Given the description of an element on the screen output the (x, y) to click on. 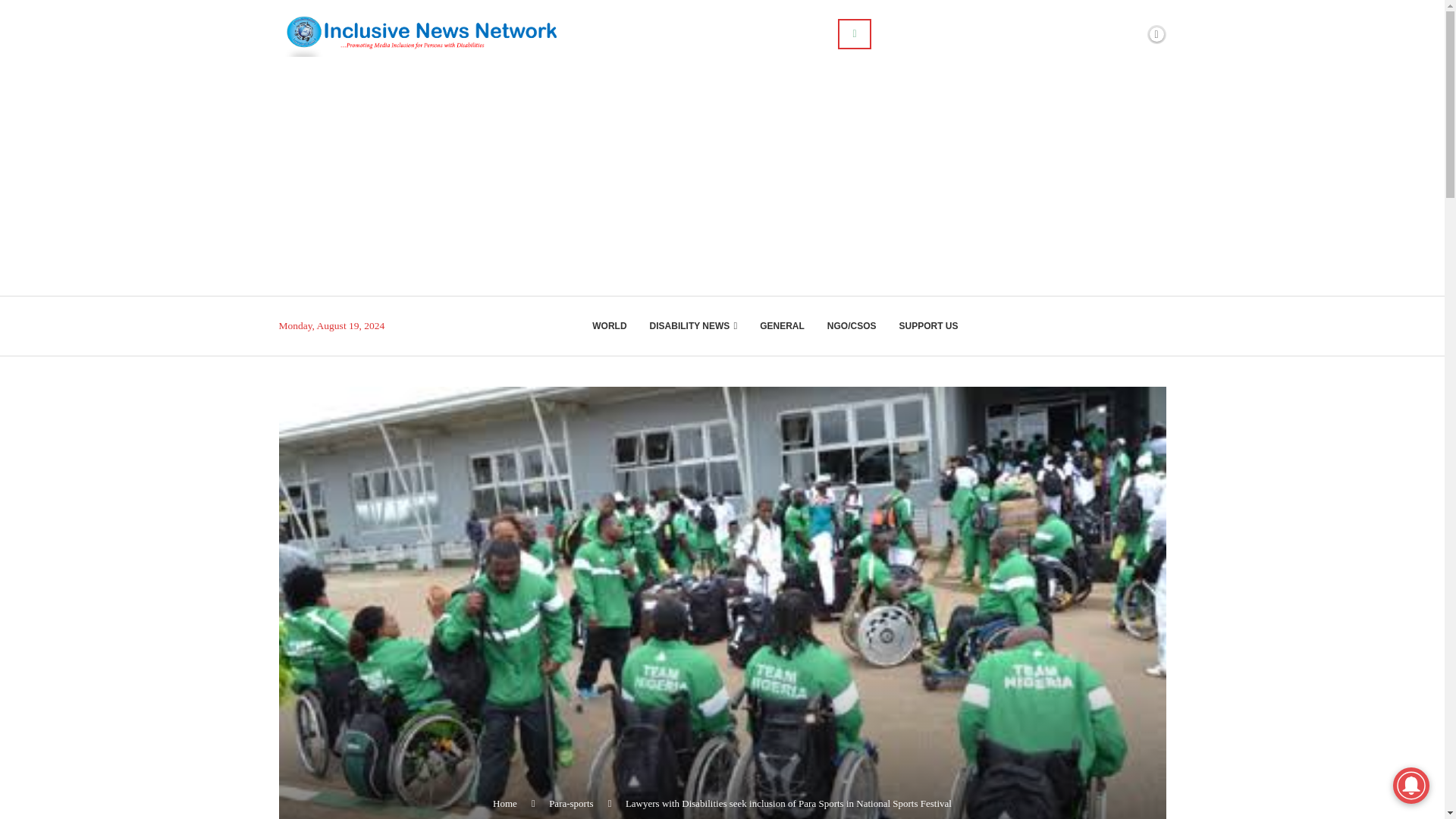
SUPPORT US (928, 325)
DISABILITY NEWS (693, 325)
GENERAL (782, 325)
